Given the description of an element on the screen output the (x, y) to click on. 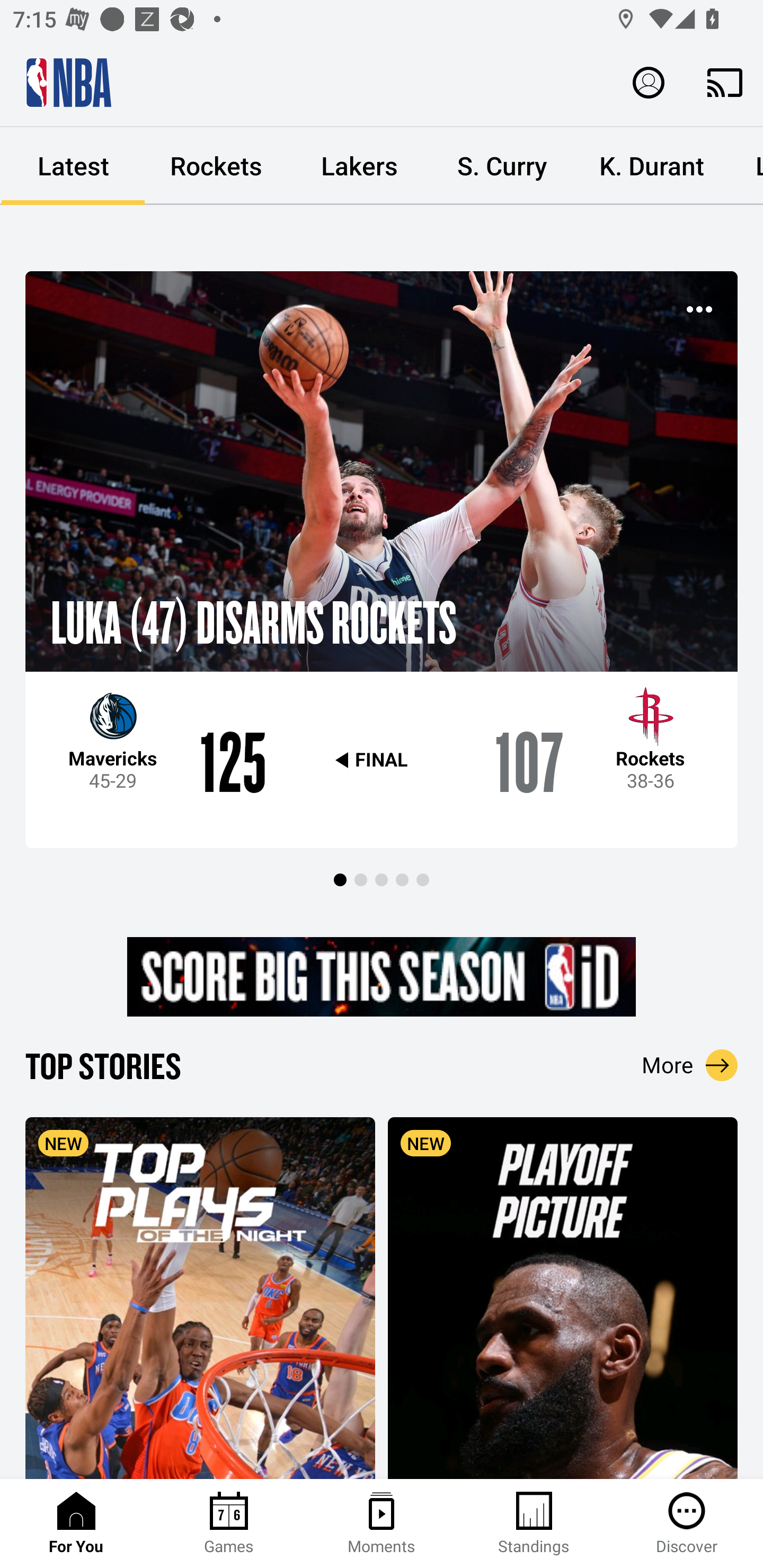
Cast. Disconnected (724, 82)
Profile (648, 81)
Rockets (215, 166)
Lakers (359, 166)
S. Curry (502, 166)
K. Durant (651, 166)
TOP STORIES More NEW NEW (381, 1260)
More (689, 1064)
NEW (200, 1297)
NEW (562, 1297)
Games (228, 1523)
Moments (381, 1523)
Standings (533, 1523)
Discover (686, 1523)
